Given the description of an element on the screen output the (x, y) to click on. 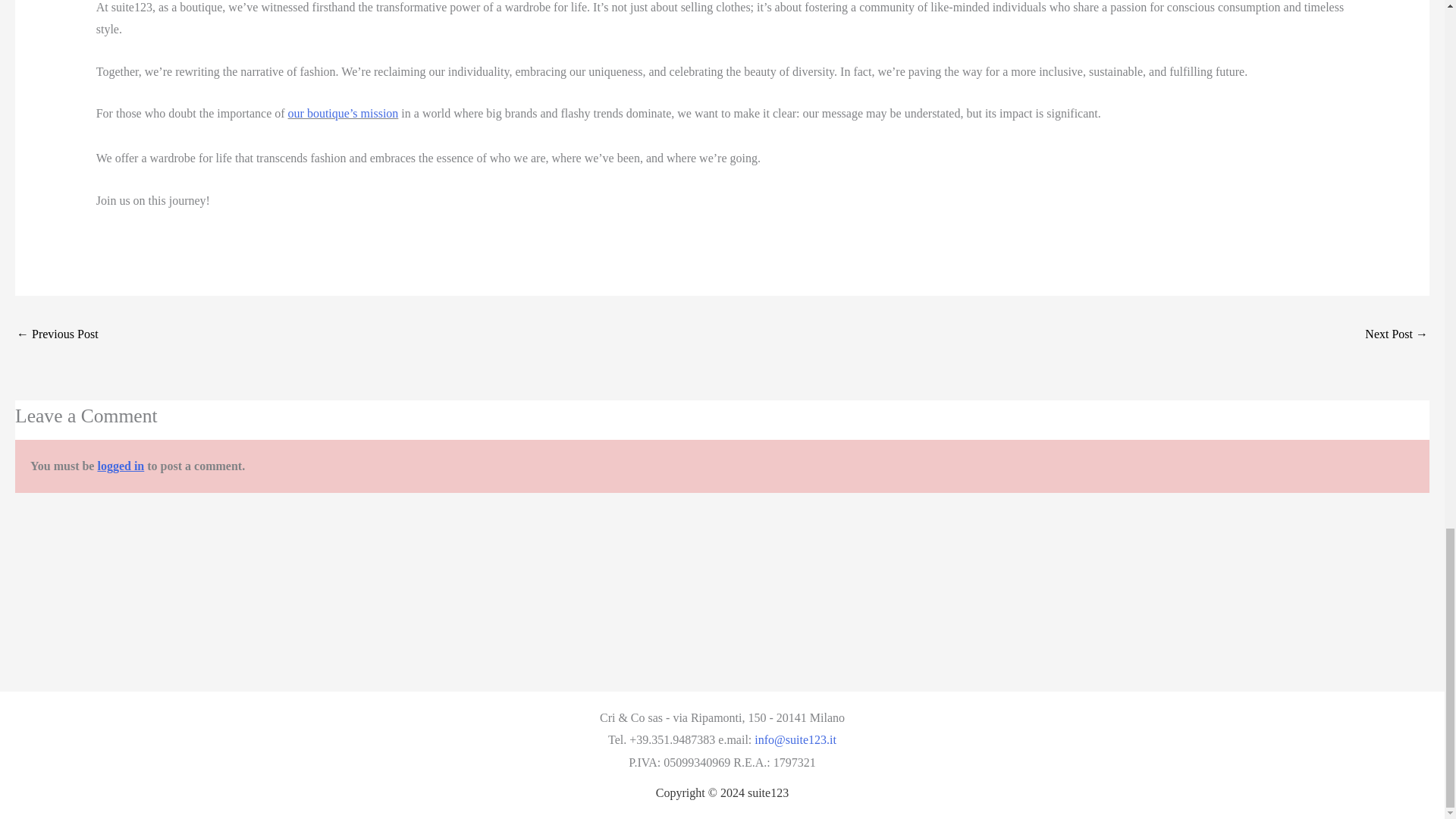
logged in (120, 465)
What Happened to Slow Fashion? (57, 335)
suite123 turns 18! (1396, 335)
